Given the description of an element on the screen output the (x, y) to click on. 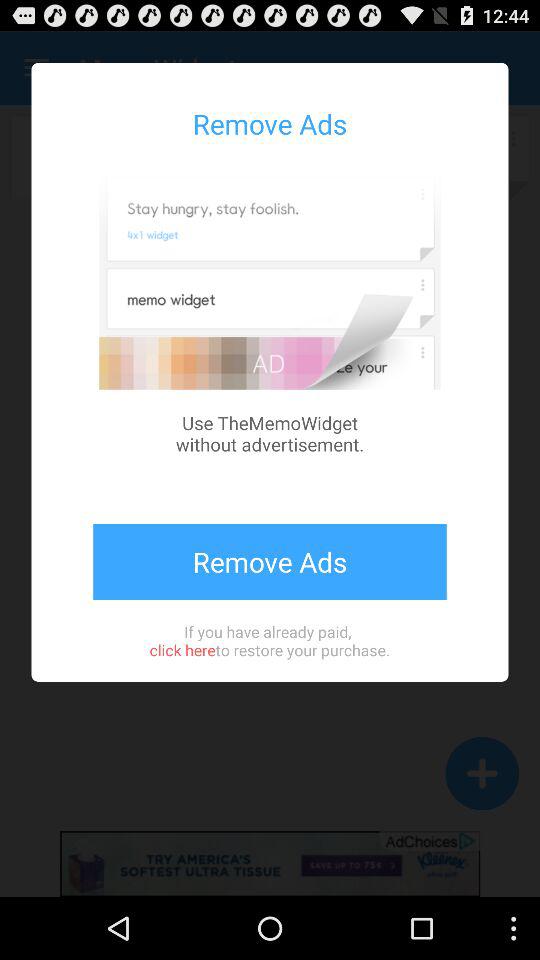
jump until the if you have icon (269, 640)
